Given the description of an element on the screen output the (x, y) to click on. 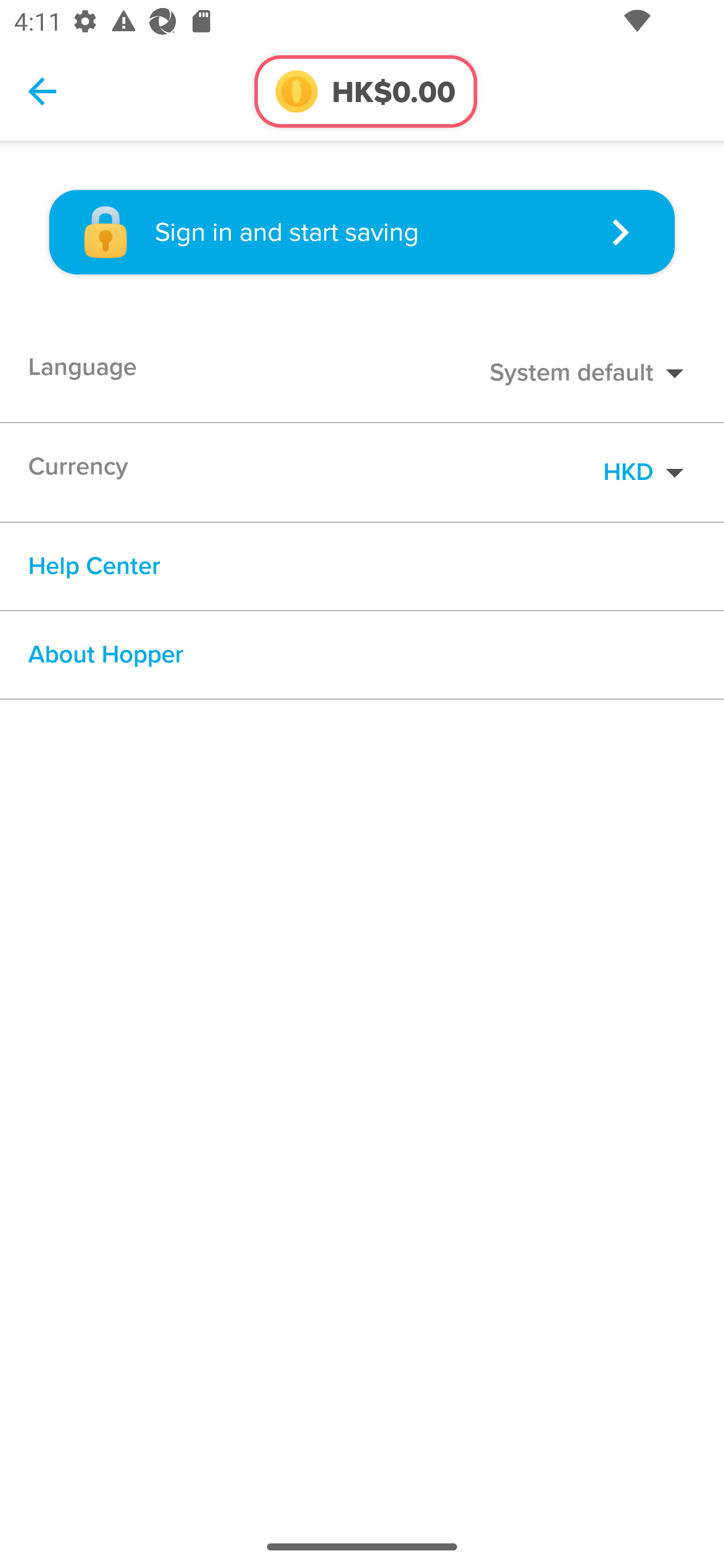
back (42, 90)
Wallet HK$0.00 (365, 90)
Sign In Sign in and start saving Sign In (361, 231)
System default Open (592, 372)
HKD Open (649, 471)
